Given the description of an element on the screen output the (x, y) to click on. 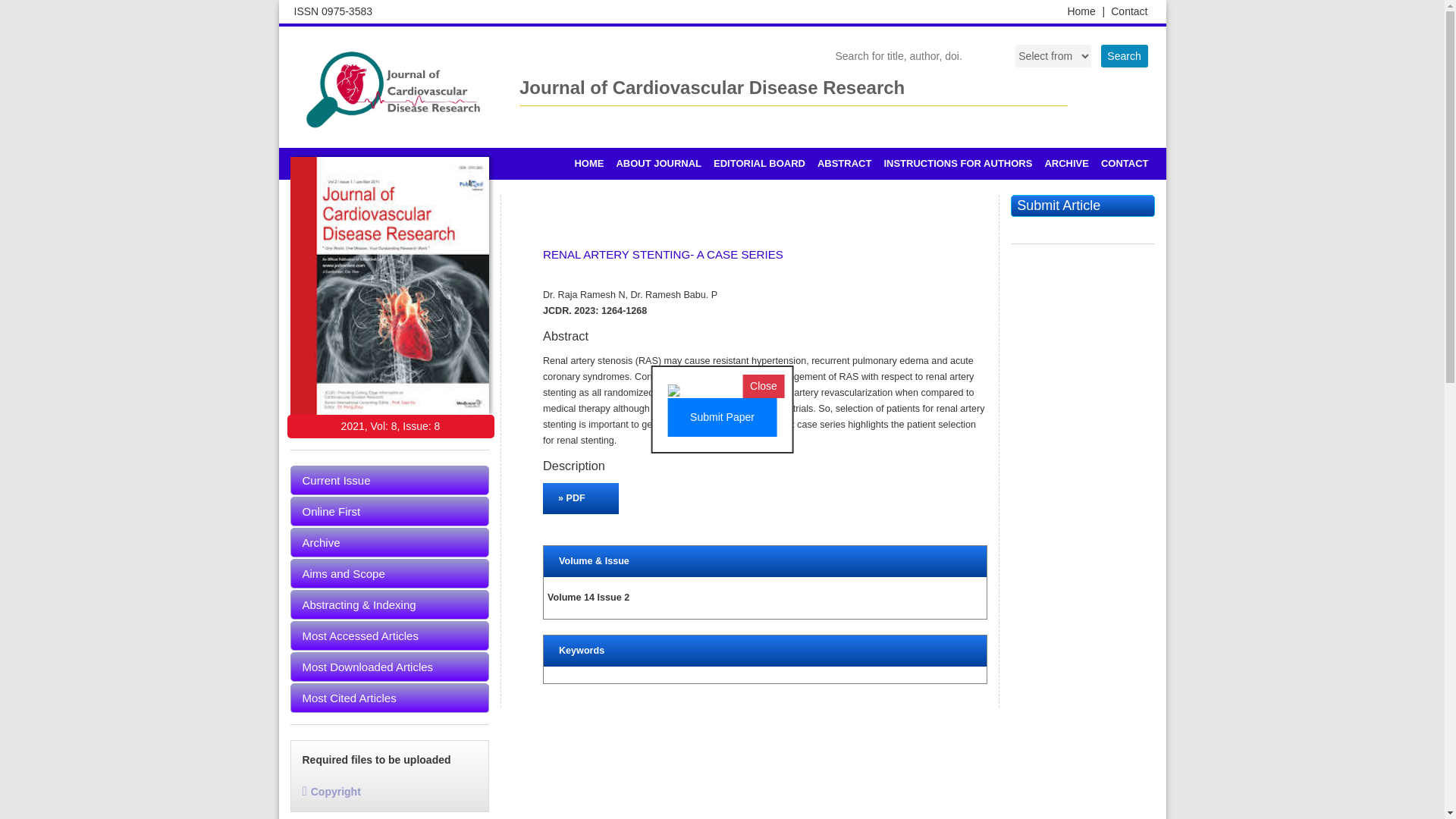
ARCHIVE (1066, 163)
Search (1124, 56)
Most Downloaded Articles (389, 666)
ABOUT JOURNAL (658, 163)
ABSTRACT (843, 163)
Submit Article (1082, 205)
CONTACT (1124, 163)
EDITORIAL BOARD (758, 163)
Copyright (330, 791)
HOME (588, 163)
Most Accessed Articles (389, 635)
INSTRUCTIONS FOR AUTHORS (957, 163)
Archive (389, 542)
Search (1124, 56)
Aims and Scope (389, 573)
